Given the description of an element on the screen output the (x, y) to click on. 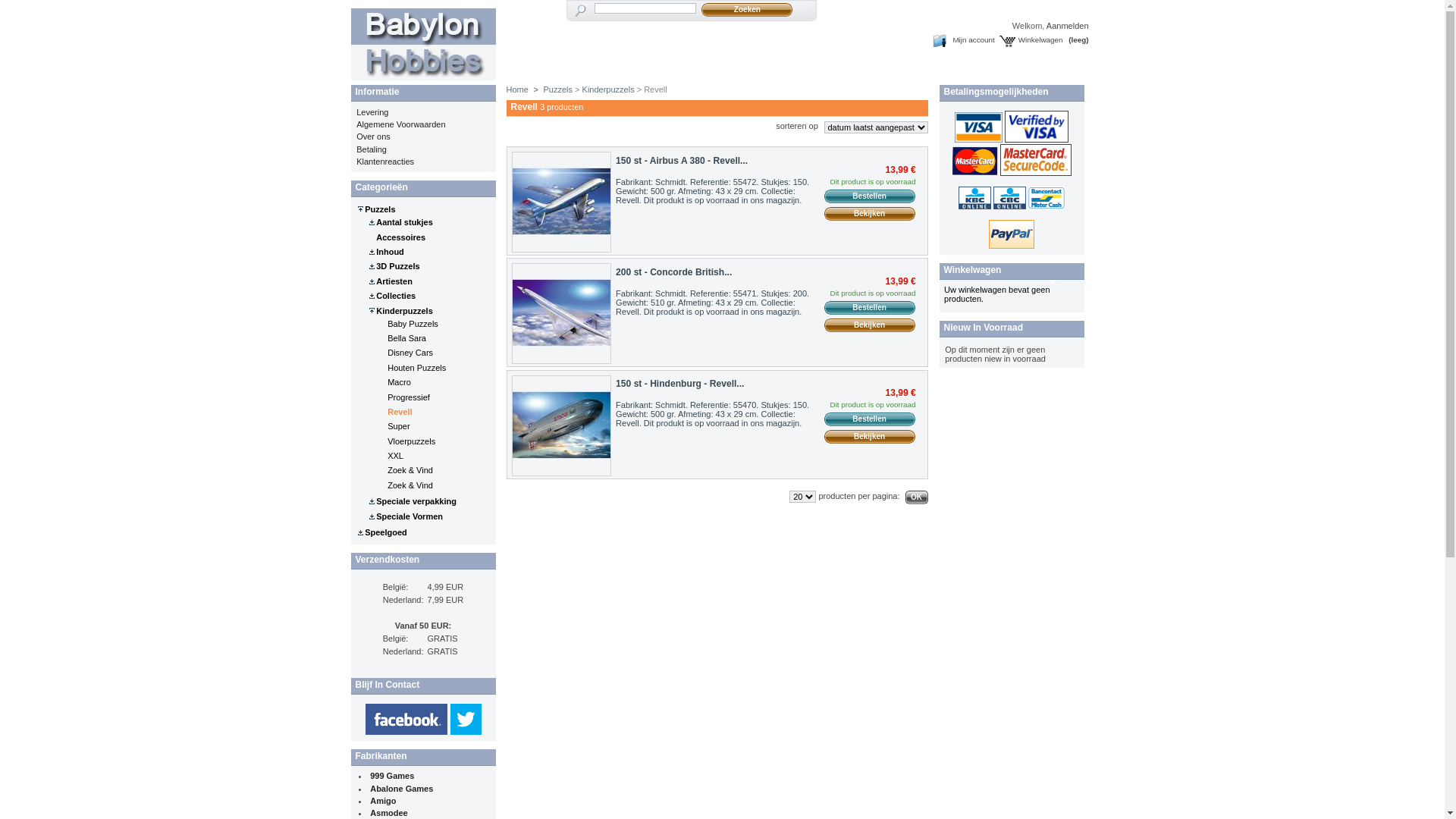
150 st - Hindenburg - Revell... Element type: text (679, 383)
Aanmelden Element type: text (1067, 25)
Bestellen Element type: text (869, 307)
Accessoires Element type: text (400, 236)
Collecties Element type: text (395, 295)
Speciale verpakking Element type: text (416, 500)
Aantal stukjes Element type: text (404, 221)
Amigo Element type: text (382, 800)
Puzzels Element type: text (379, 208)
Kinderpuzzels Element type: text (404, 310)
Baby Puzzels Element type: text (412, 323)
Macro Element type: text (399, 381)
Abalone Games Element type: text (401, 788)
Disney Cars Element type: text (410, 352)
OK Element type: text (916, 497)
Bestellen Element type: text (869, 196)
Puzzels Element type: text (557, 89)
Betaling Element type: text (371, 148)
Klantenreacties Element type: text (385, 161)
Kinderpuzzels Element type: text (608, 89)
Zoek & Vind Element type: text (410, 484)
Zoeken Element type: text (746, 9)
Nieuw In Voorraad Element type: text (982, 327)
Revell Element type: text (399, 411)
Bekijken Element type: text (869, 213)
Artiesten Element type: text (394, 280)
Bestellen Element type: text (869, 419)
Bella Sara Element type: text (406, 337)
3D Puzzels Element type: text (397, 265)
Vloerpuzzels Element type: text (411, 440)
Fabrikanten Element type: text (380, 755)
Inhoud Element type: text (390, 251)
Levering Element type: text (372, 111)
Houten Puzzels Element type: text (416, 367)
Bekijken Element type: text (869, 436)
Home Element type: text (517, 89)
150 st - Hindenburg - Revell (door Schmidt) Element type: hover (560, 425)
Speelgoed Element type: text (385, 531)
Algemene Voorwaarden Element type: text (400, 123)
XXL Element type: text (395, 455)
Babylon Hobbies Element type: hover (422, 74)
150 st - Airbus A 380 - Revell... Element type: text (681, 160)
Winkelwagen Element type: text (972, 269)
Winkelwagen Element type: text (1030, 40)
200 st - Concorde British Airways - Revell (door Schmidt) Element type: hover (560, 313)
Zoek & Vind Element type: text (410, 469)
Speciale Vormen Element type: text (409, 515)
Super Element type: text (398, 425)
999 Games Element type: text (392, 775)
200 st - Concorde British... Element type: text (673, 271)
Asmodee Element type: text (388, 812)
Over ons Element type: text (373, 136)
Mijn account Element type: text (963, 40)
Progressief Element type: text (408, 396)
150 st - Airbus A 380 - Revell (door Schmidt) Element type: hover (560, 201)
Bekijken Element type: text (869, 325)
